Given the description of an element on the screen output the (x, y) to click on. 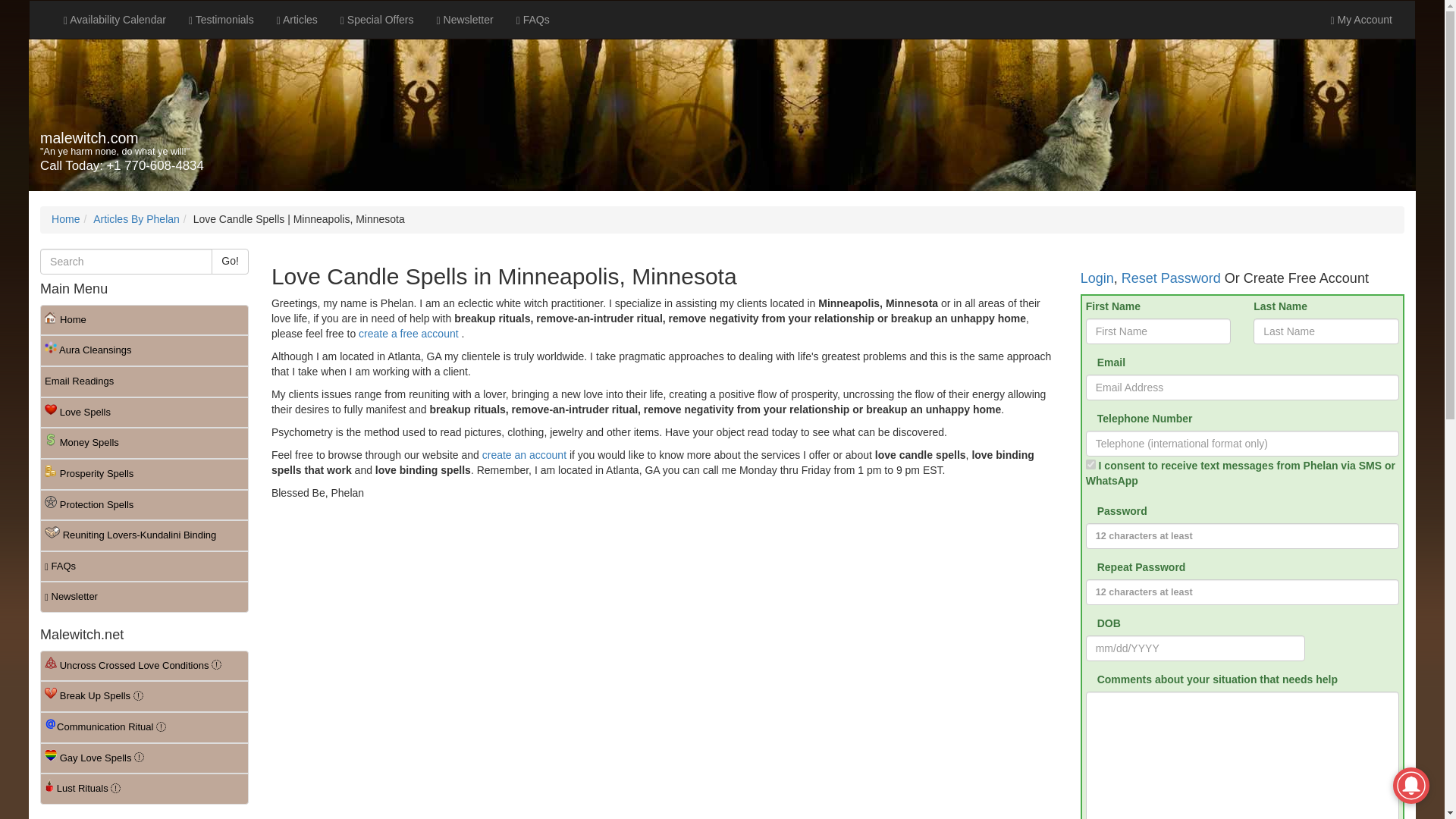
Prosperity Spells (144, 473)
home (144, 319)
Communication Ritual (144, 726)
Articles (296, 19)
protection spells (144, 504)
aura cleansings (144, 350)
1 (1091, 464)
email readings (144, 381)
create a free account (408, 333)
Email Readings (144, 381)
Testimonials (220, 19)
client testimonials (220, 19)
Reuniting Lovers-Kundalini Binding (144, 535)
My Account (1361, 19)
faqs (532, 19)
